Given the description of an element on the screen output the (x, y) to click on. 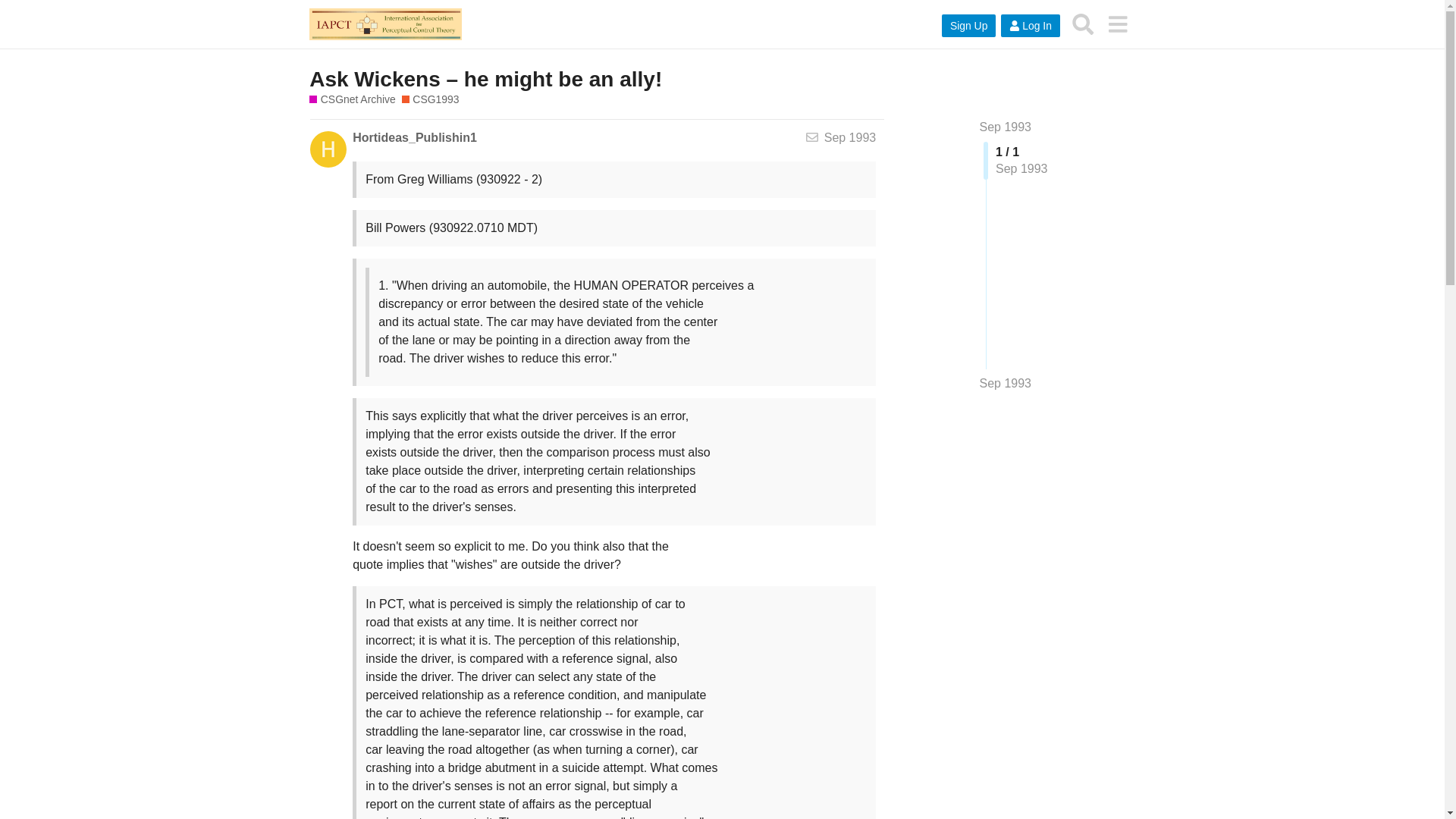
CSG1993 (430, 99)
This is an archive of CSGnet posts from 1993. (430, 99)
Jump to the first post (1005, 126)
this post arrived via email (812, 137)
Post date (850, 137)
CSGnet Archive (352, 99)
menu (1117, 23)
Jump to the last post (1005, 382)
Sign Up (968, 25)
Sep 1993 (1005, 126)
Sep 1993 (850, 137)
Search (1082, 23)
Sep 1993 (1005, 383)
Log In (1030, 25)
